Given the description of an element on the screen output the (x, y) to click on. 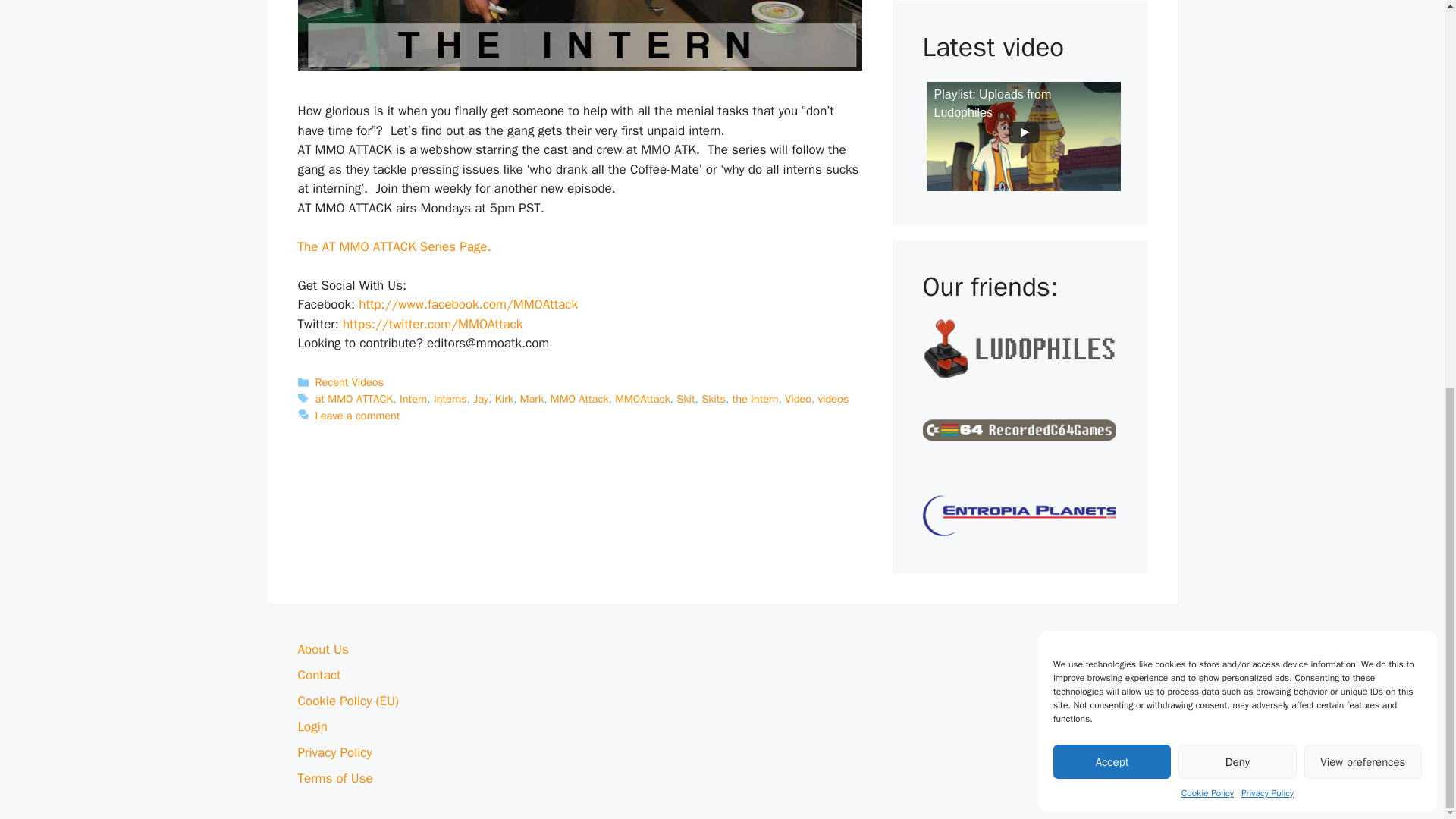
View preferences (1363, 25)
Link httpwwwfacebookcomMMOAttack (468, 304)
AT MMO ATK YouTube Series Page (393, 246)
Cookie Policy (1206, 56)
Scroll back to top (1406, 802)
Accept (1111, 25)
Privacy Policy (1267, 56)
Deny (1236, 25)
Playlist: Uploads from Ludophiles (1023, 135)
